Given the description of an element on the screen output the (x, y) to click on. 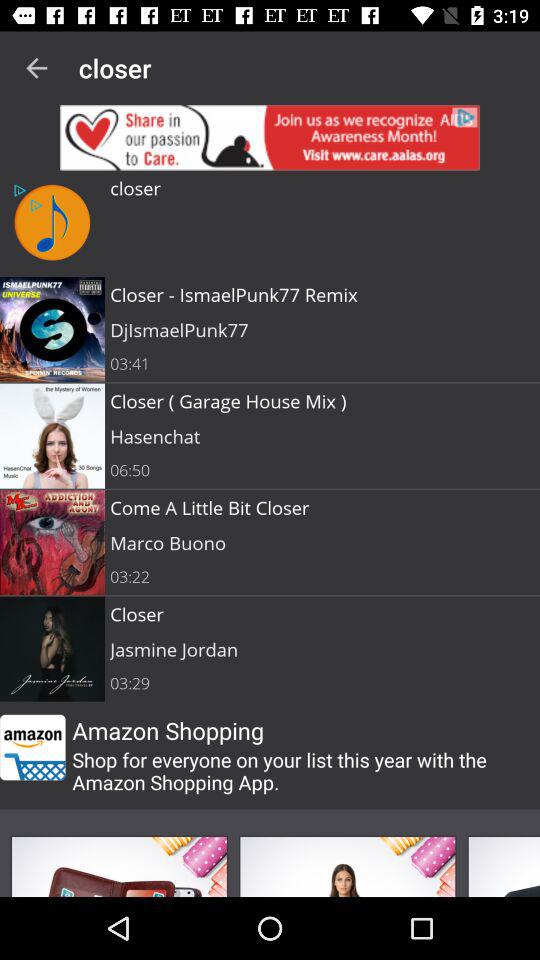
advert banner (270, 137)
